Given the description of an element on the screen output the (x, y) to click on. 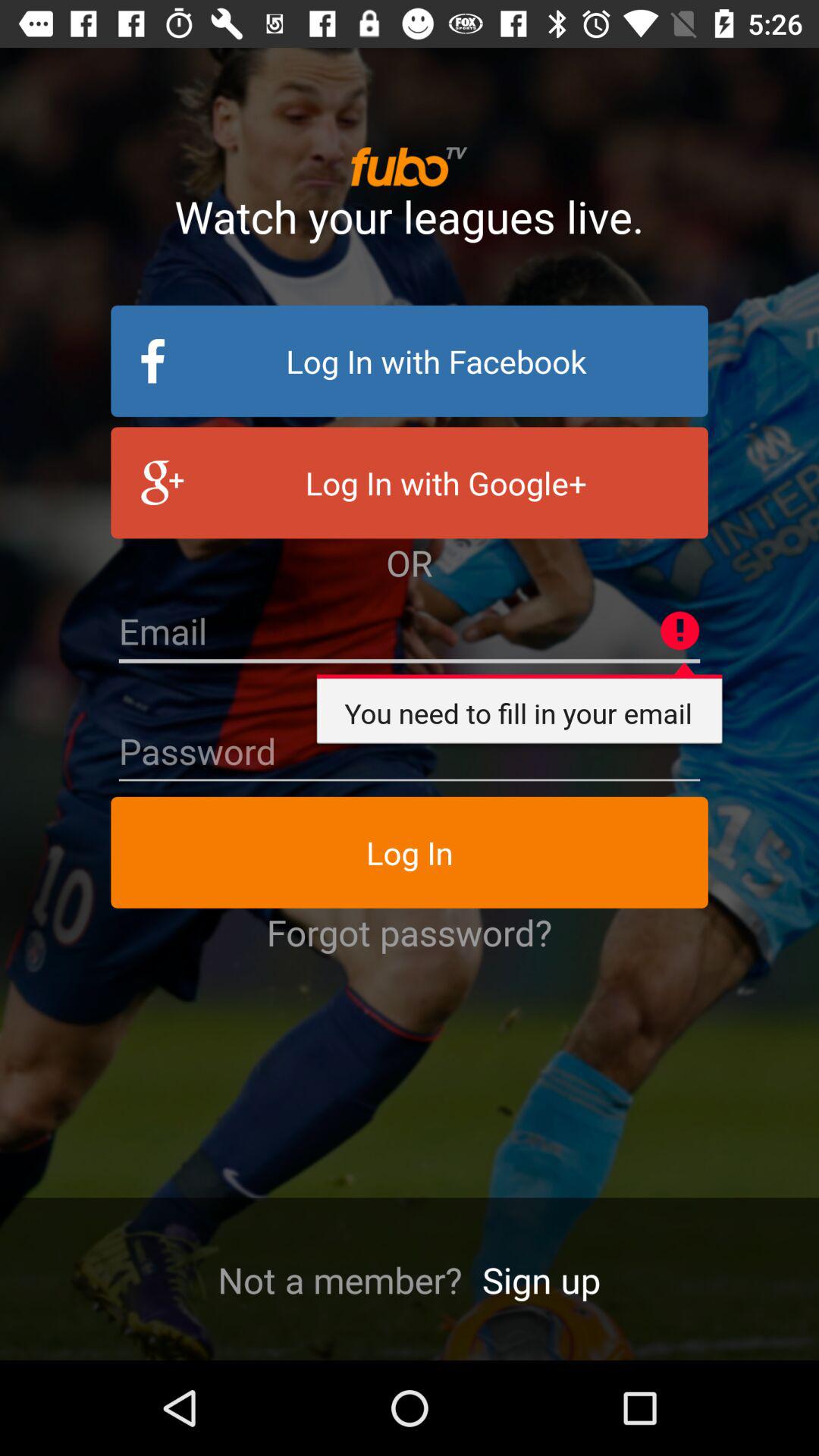
password field (409, 751)
